Given the description of an element on the screen output the (x, y) to click on. 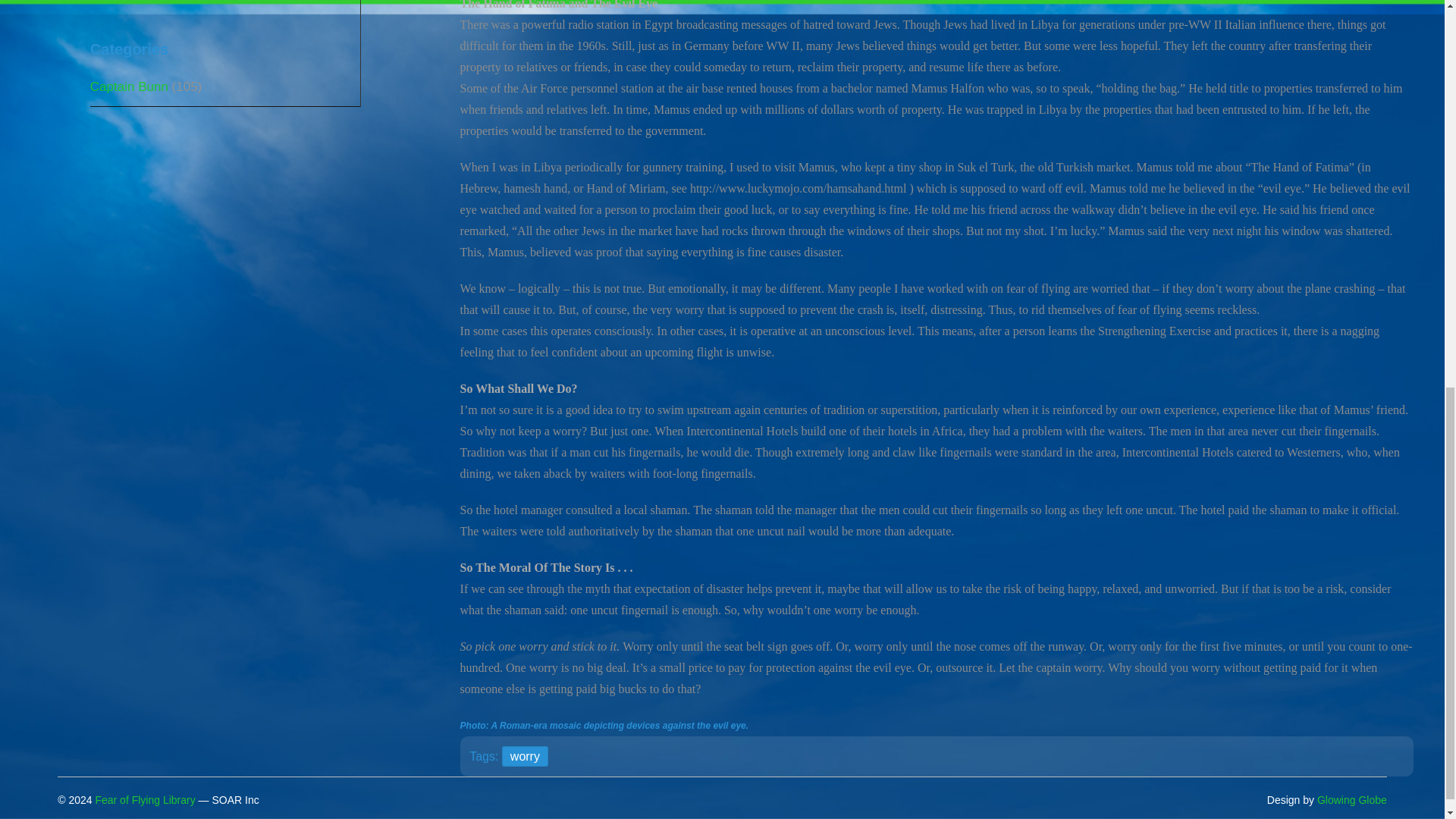
worry (525, 756)
Fear of Flying Library (144, 799)
Fear of Flying Library (144, 799)
Captain Bunn (129, 86)
Glowing Globe (1352, 799)
